Given the description of an element on the screen output the (x, y) to click on. 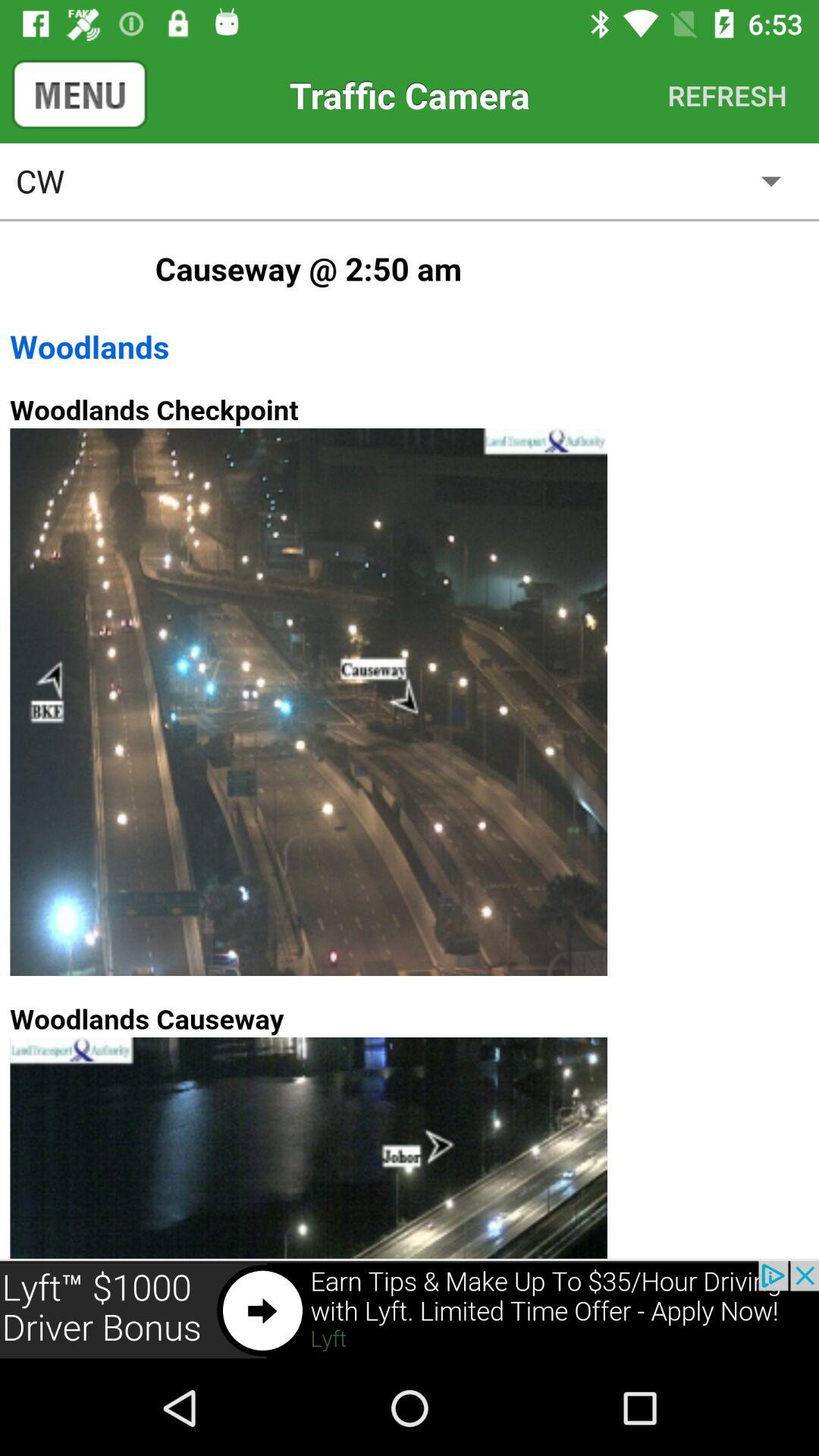
click on the menu icon (71, 95)
